Given the description of an element on the screen output the (x, y) to click on. 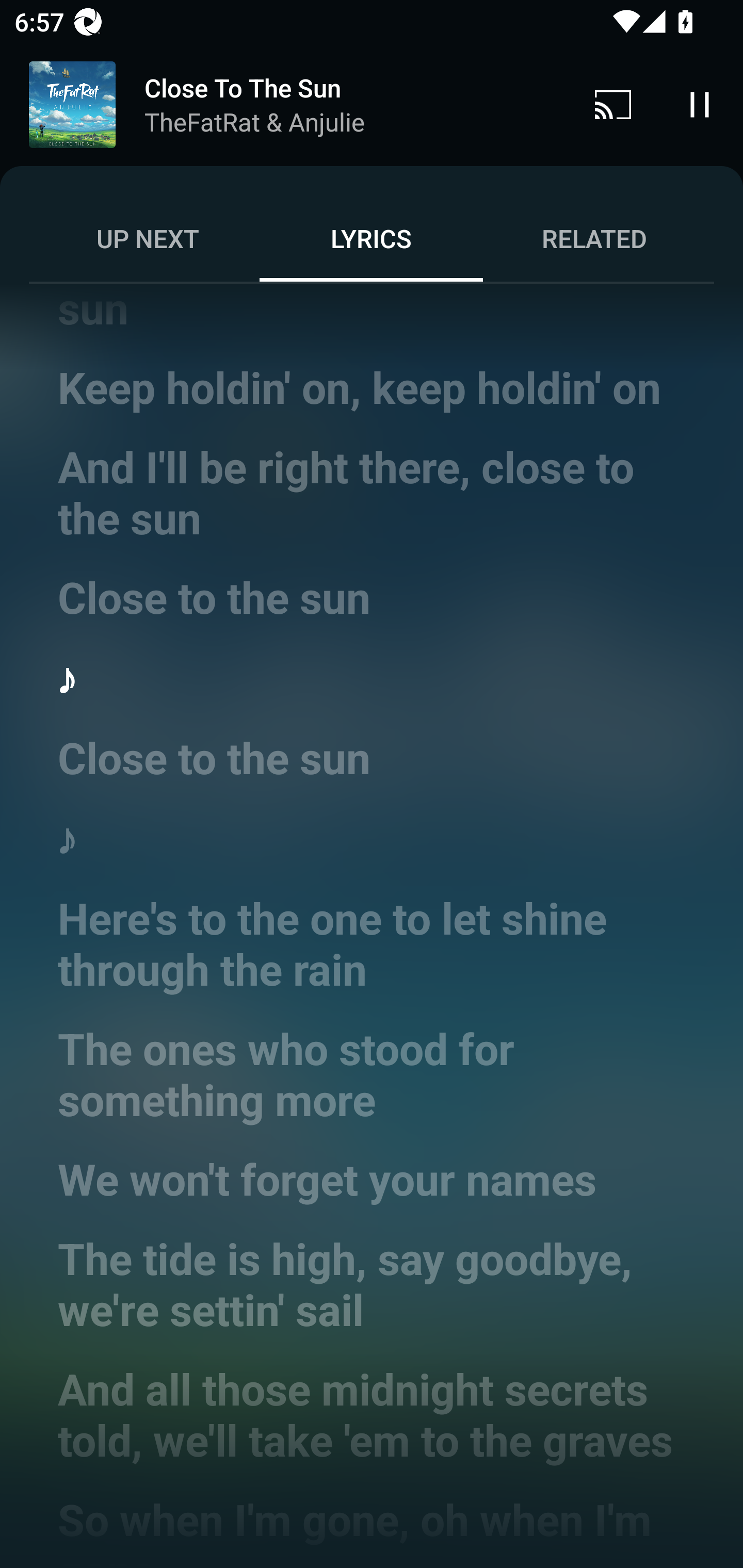
Close To The Sun TheFatRat & Anjulie (284, 104)
Search (605, 86)
Account (696, 86)
Up next UP NEXT (147, 238)
Related RELATED (594, 238)
